Given the description of an element on the screen output the (x, y) to click on. 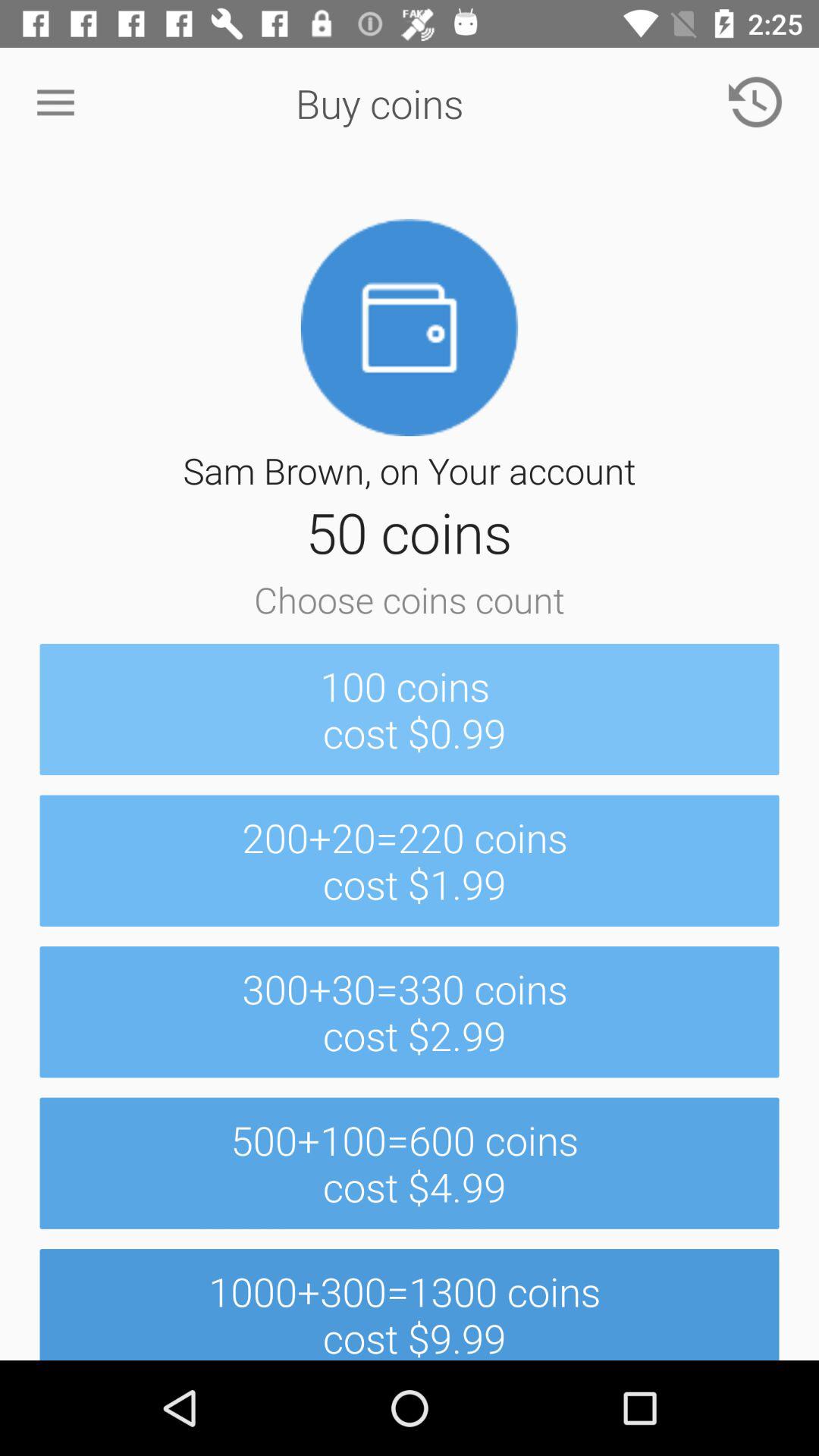
press icon above the 100 coins cost (55, 103)
